Given the description of an element on the screen output the (x, y) to click on. 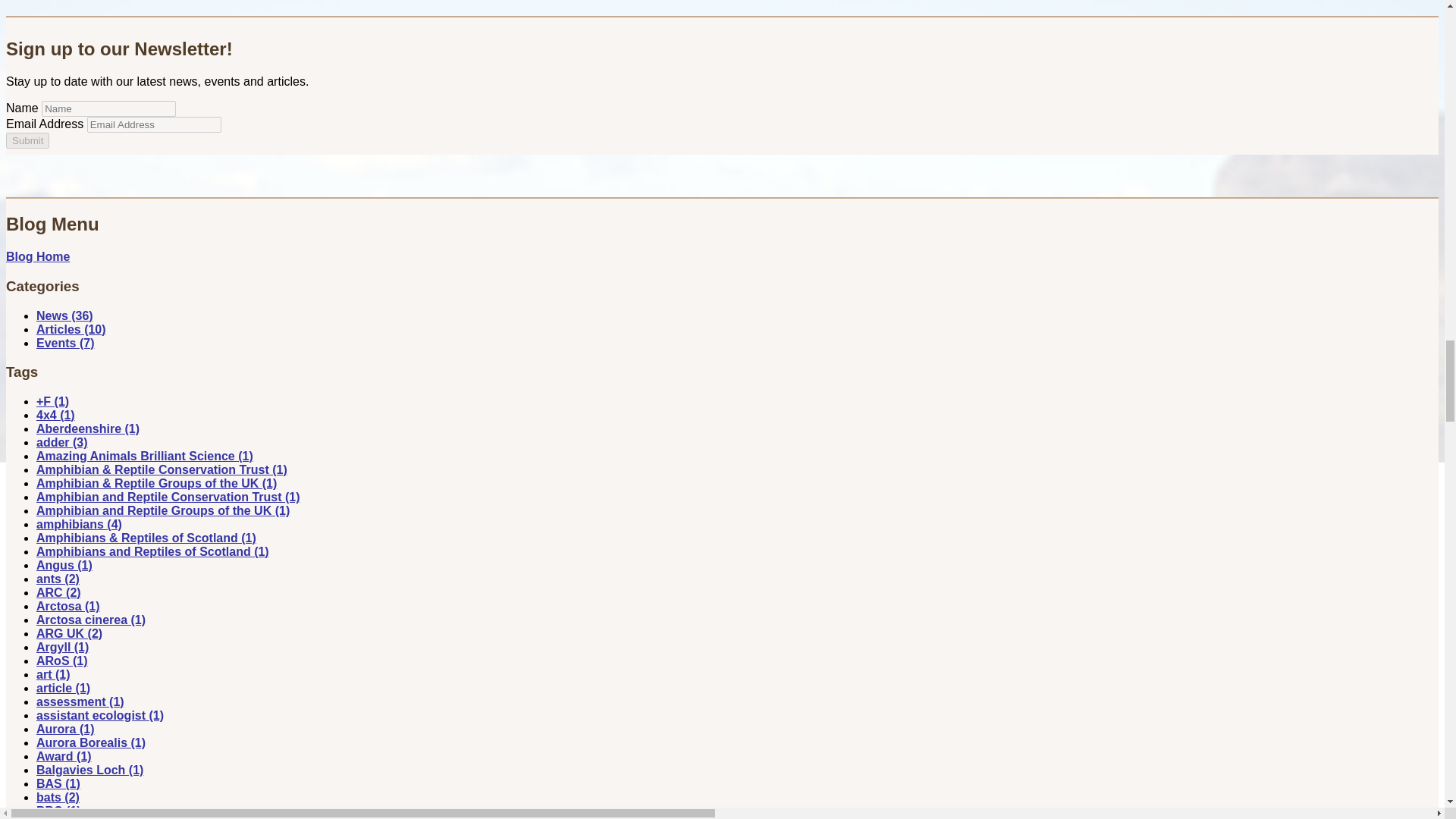
Submit (27, 140)
Blog Home (37, 256)
Submit (27, 140)
